Given the description of an element on the screen output the (x, y) to click on. 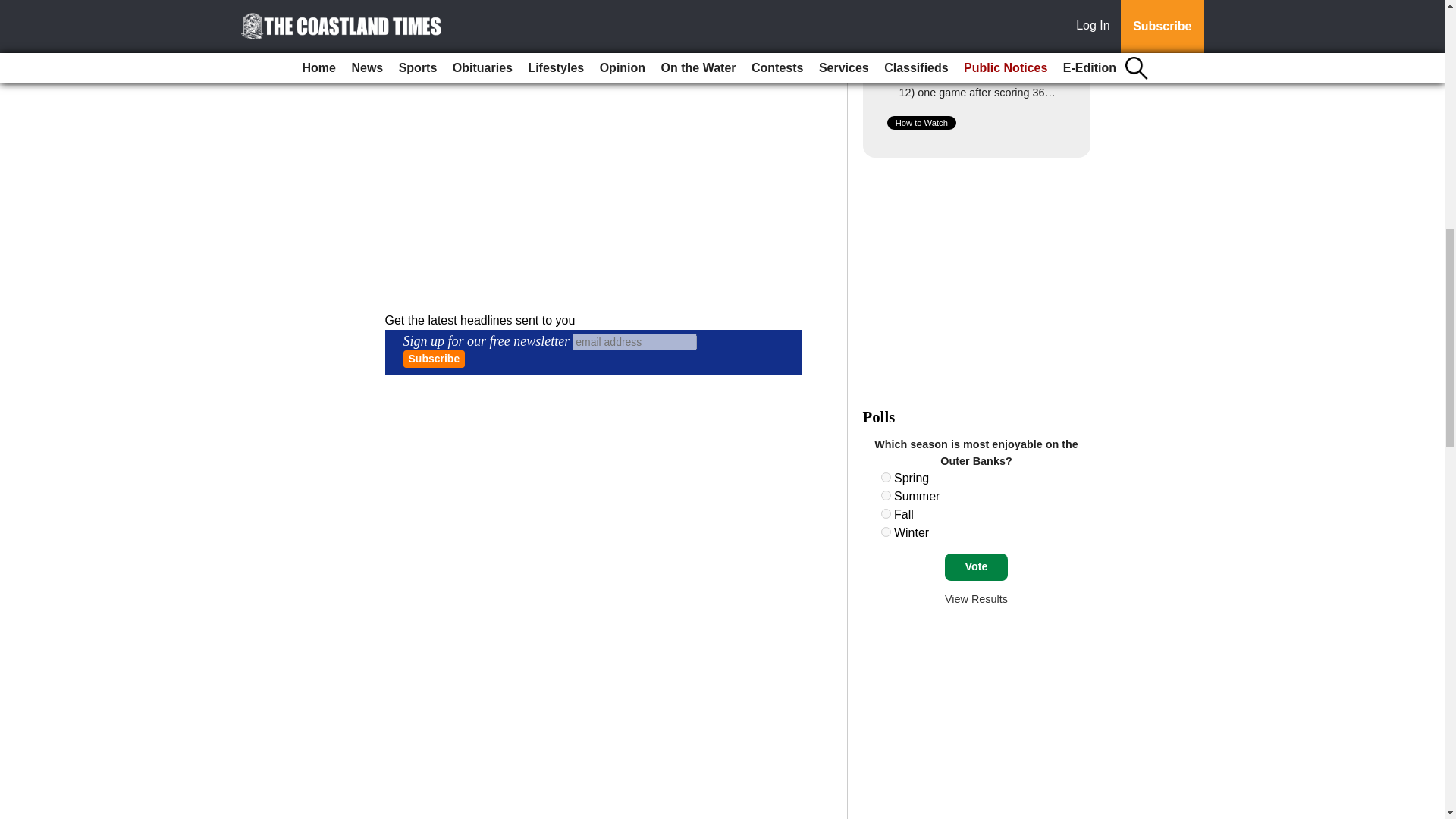
151 (885, 477)
www.gallopfuneralservices.com (469, 27)
153 (885, 513)
Subscribe (434, 358)
152 (885, 495)
   Vote    (975, 566)
READ MORE OBITUARIES HERE. (480, 75)
Subscribe (434, 358)
View Results Of This Poll (975, 598)
154 (885, 532)
